Given the description of an element on the screen output the (x, y) to click on. 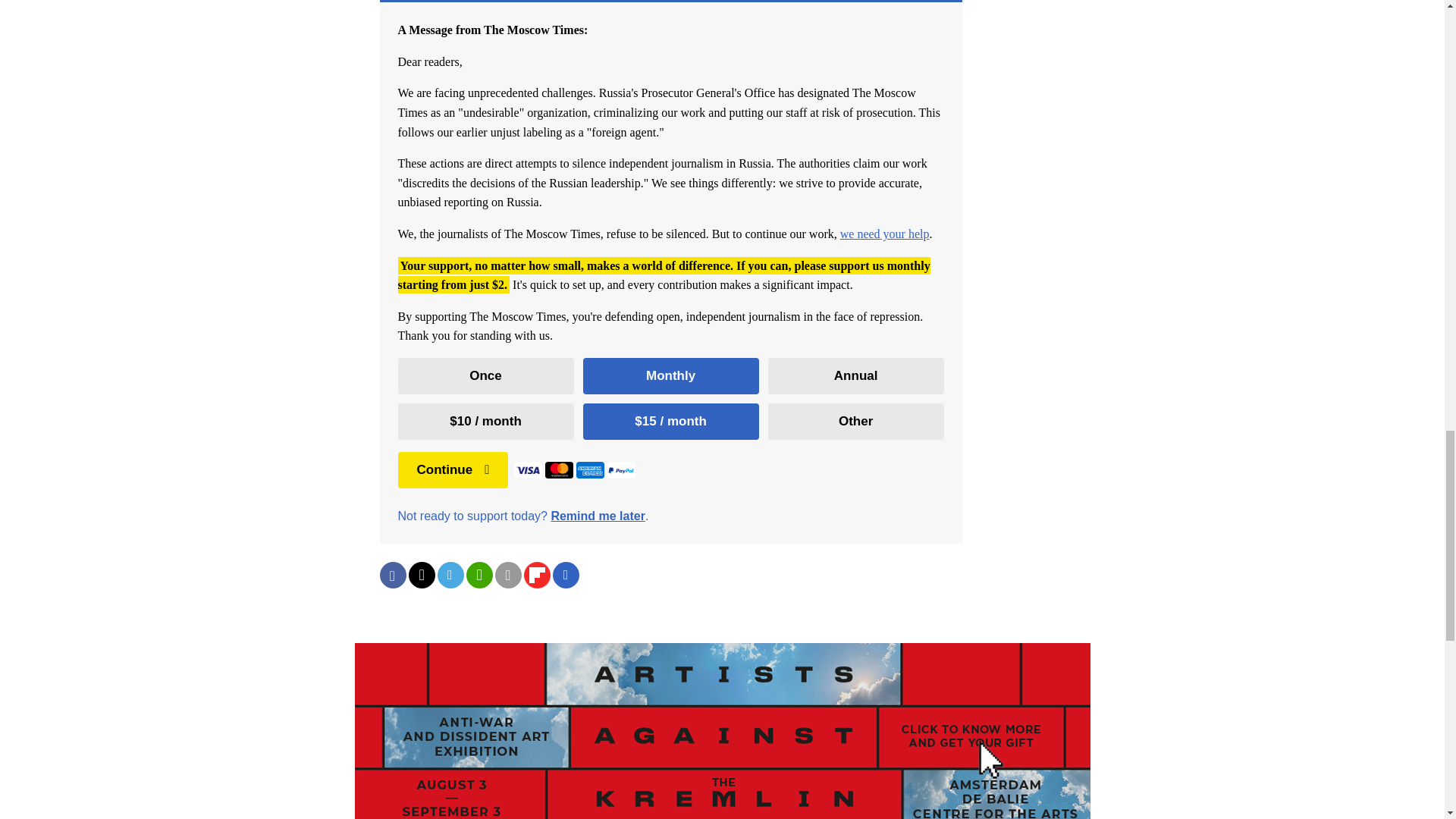
Share on Flipboard (536, 574)
we need your help (885, 233)
Share on Facebook (392, 574)
Share on Twitter (420, 574)
Share on Telegram (449, 574)
